Given the description of an element on the screen output the (x, y) to click on. 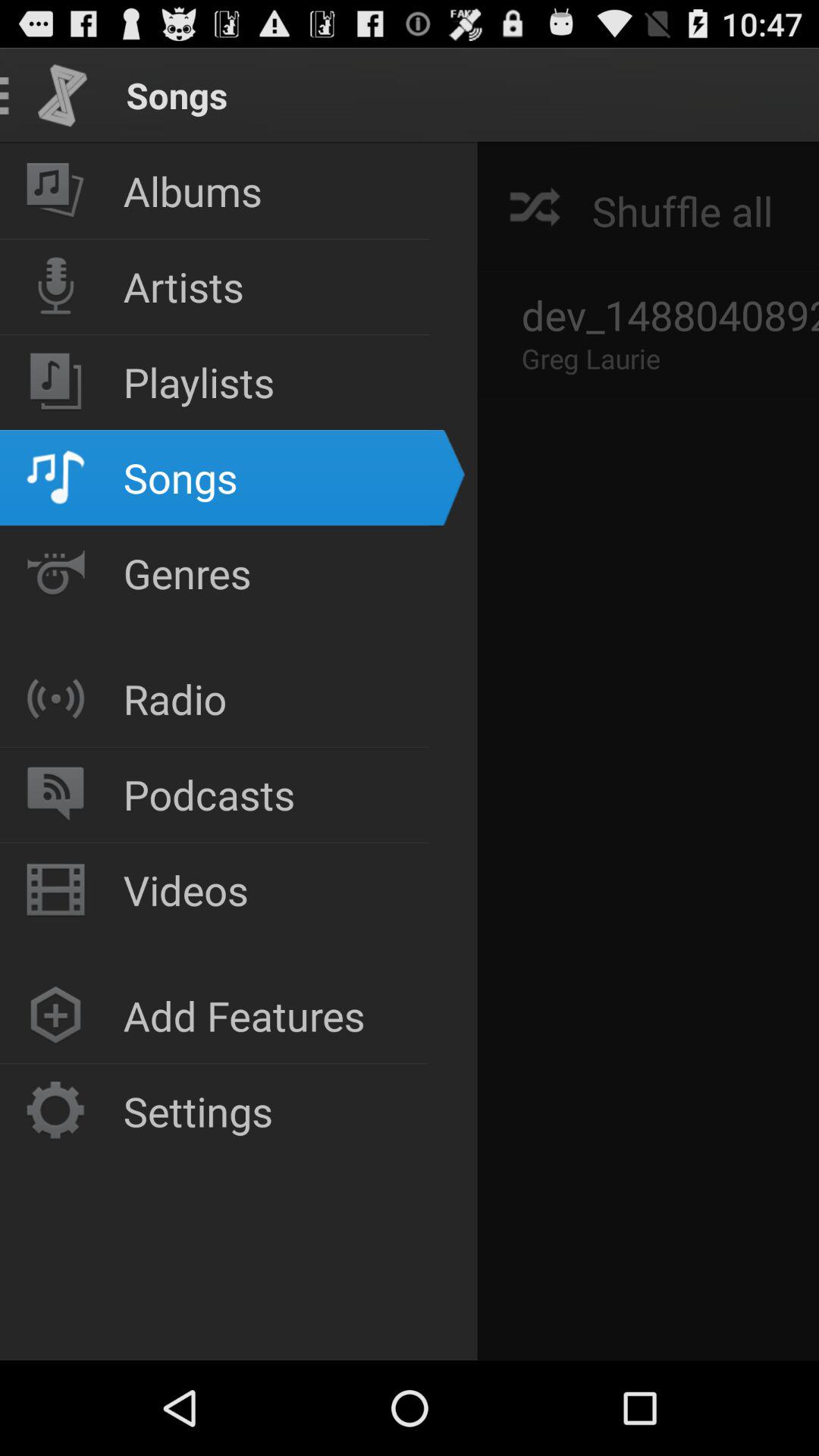
click on the  music icon (56, 190)
click on mic icon (56, 286)
click on the icon just left to playlists (56, 381)
click on the option beside videos (56, 890)
tap on the icon just left to songs (62, 95)
click on icon which is left to the radio (56, 698)
select the 1st icon left to the word songs (62, 95)
select the music symbol which is in the blue color box (56, 477)
